Given the description of an element on the screen output the (x, y) to click on. 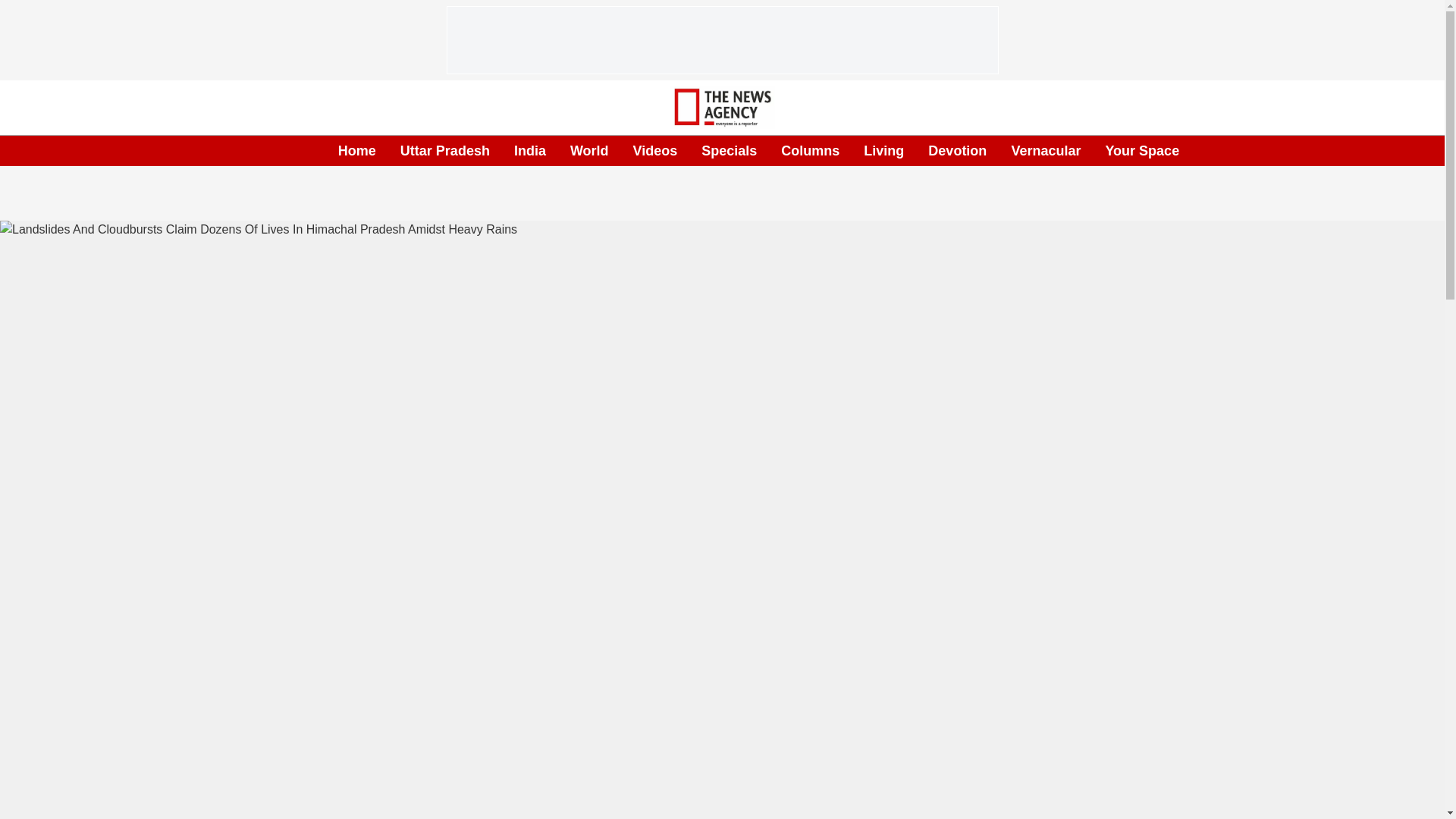
Living (883, 150)
Your Space (1142, 150)
Videos (655, 150)
Vernacular (1045, 150)
Columns (810, 150)
Specials (729, 150)
Uttar Pradesh (444, 150)
India (529, 150)
World (589, 150)
Home (356, 150)
